Given the description of an element on the screen output the (x, y) to click on. 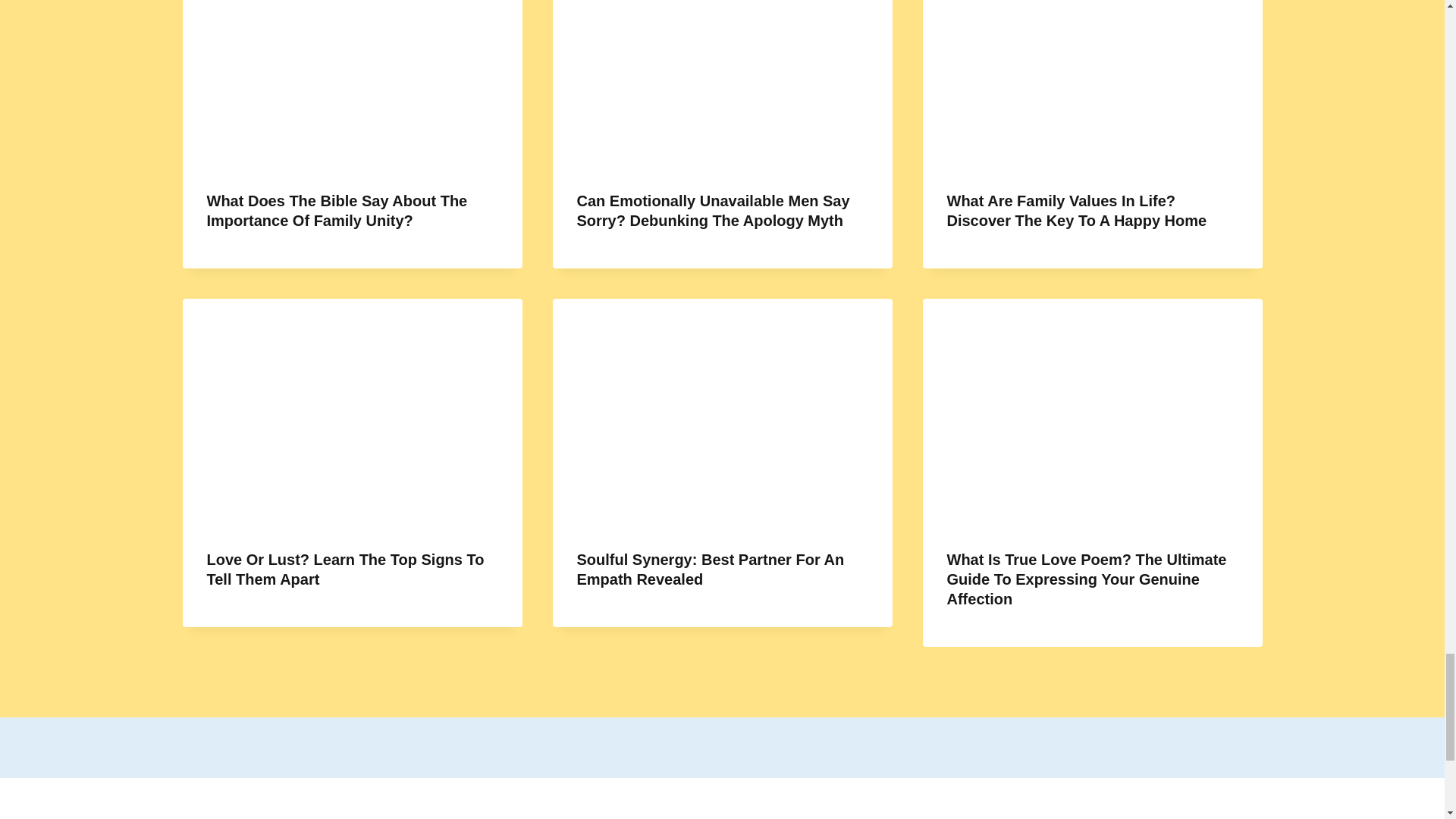
Love Or Lust? Learn The Top Signs To Tell Them Apart (344, 569)
